Given the description of an element on the screen output the (x, y) to click on. 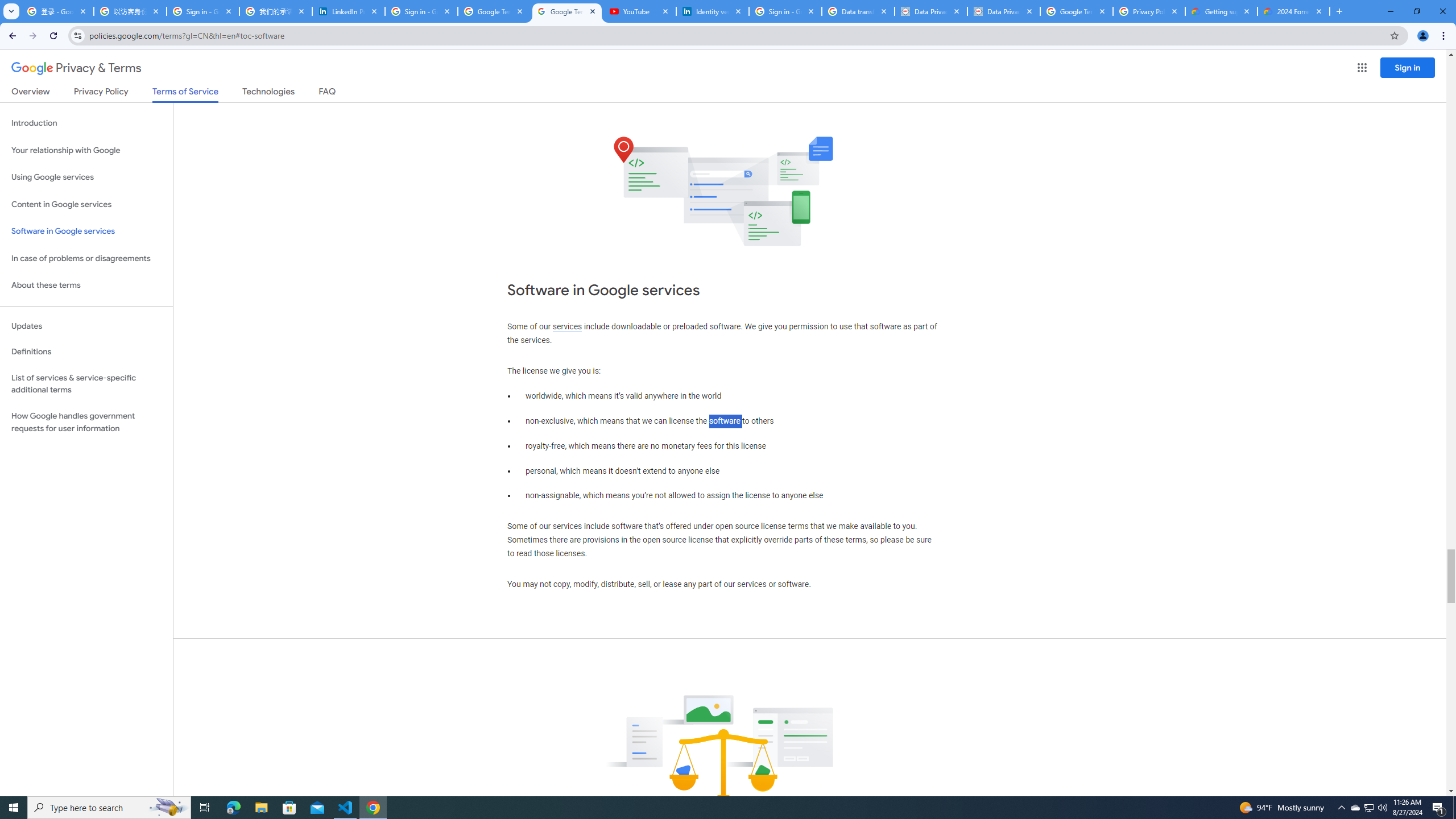
YouTube (639, 11)
Google apps (1362, 67)
Address and search bar (735, 35)
Data Privacy Framework (930, 11)
Identity verification via Persona | LinkedIn Help (712, 11)
LinkedIn Privacy Policy (348, 11)
Terms of Service (184, 94)
FAQ (327, 93)
